Given the description of an element on the screen output the (x, y) to click on. 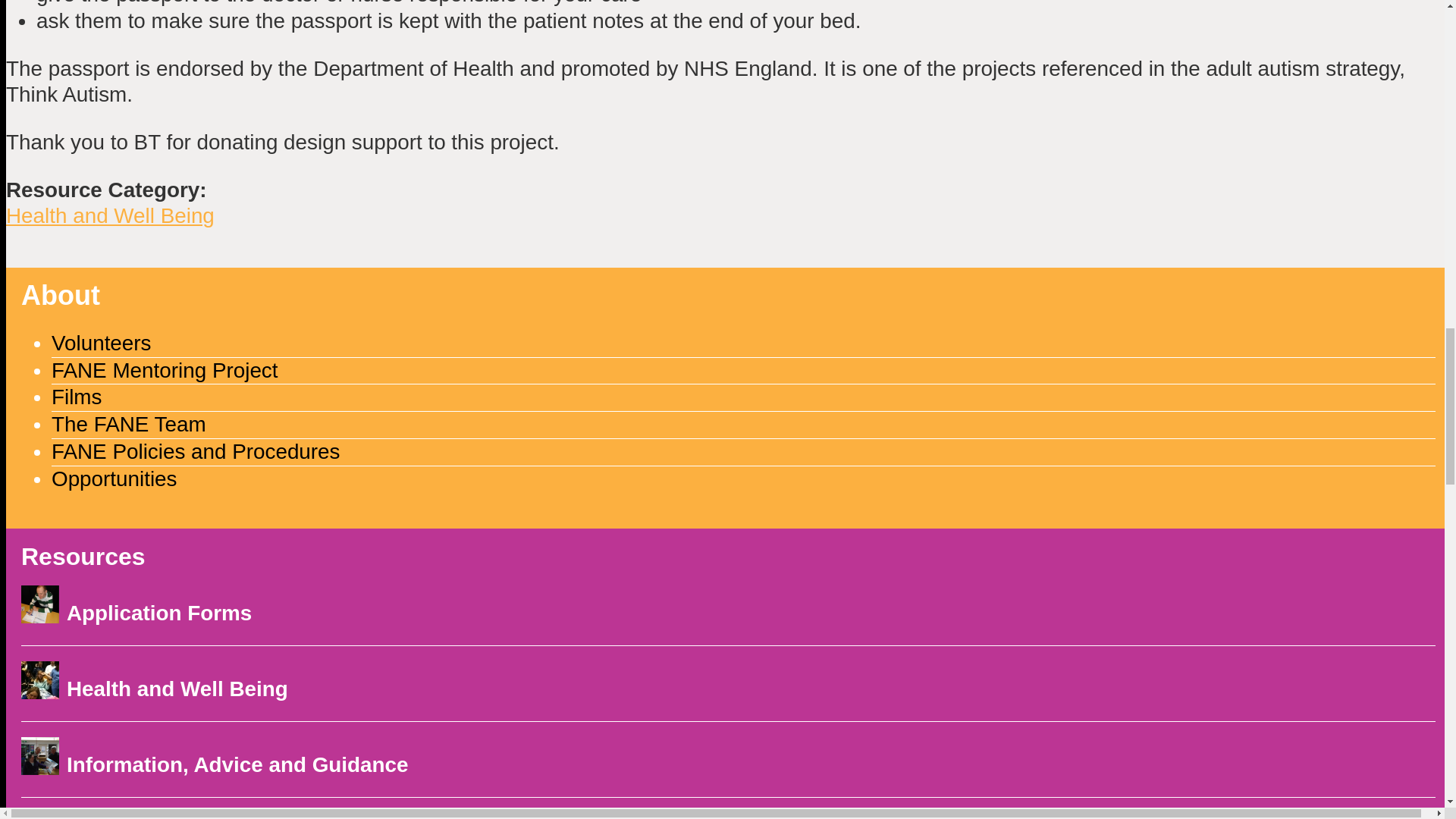
FANE Policies and Procedures (195, 451)
About (60, 295)
Opportunities (113, 478)
Application Forms (158, 612)
The FANE Team (128, 423)
Films (75, 396)
Information, Advice and Guidance (236, 764)
FANE Mentoring Project (164, 370)
Health and Well Being (109, 215)
Volunteers (100, 342)
Health and Well Being (177, 689)
